Given the description of an element on the screen output the (x, y) to click on. 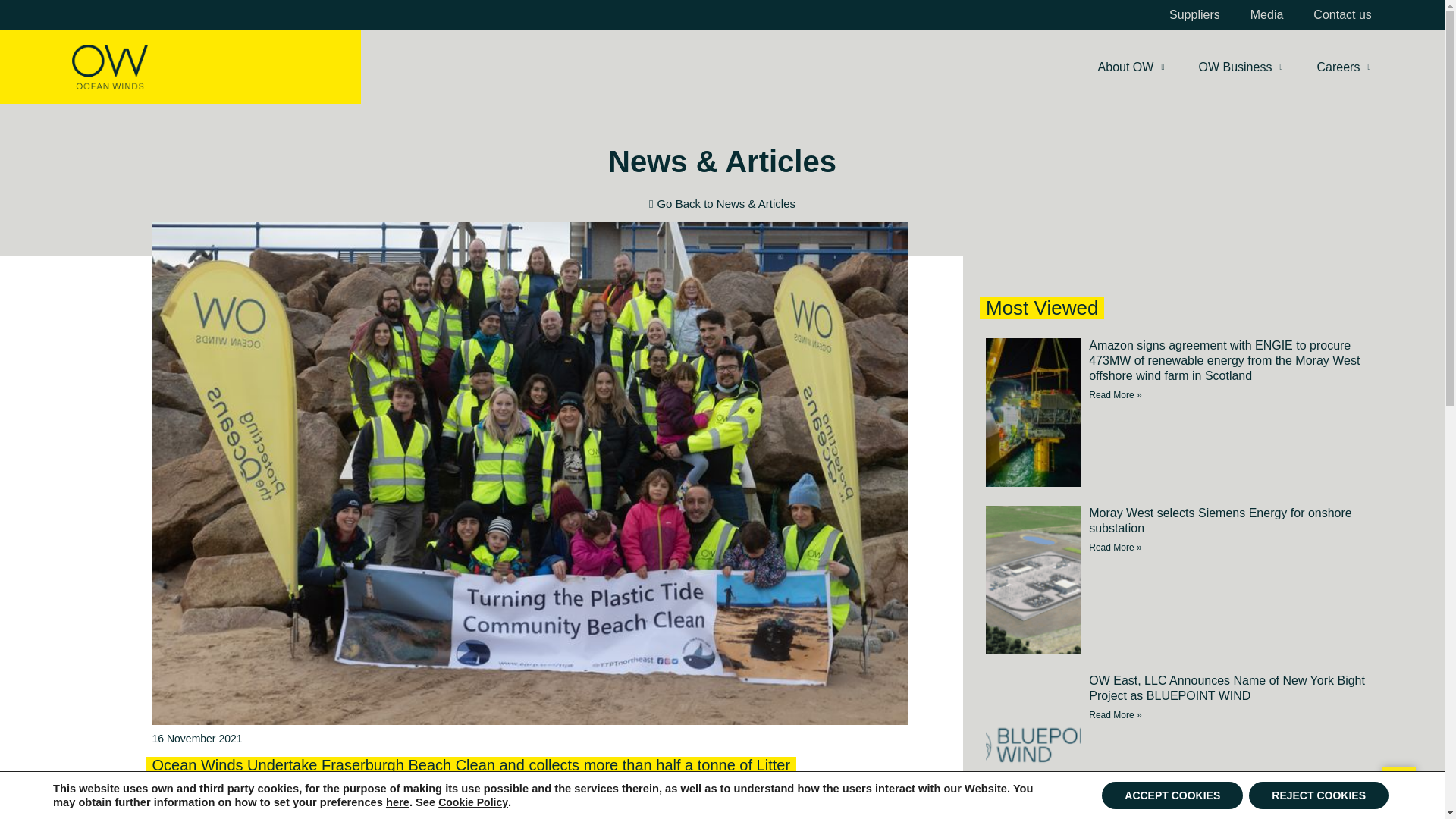
Contact us (1342, 14)
Careers (1343, 67)
About OW (1131, 67)
OW Business (1239, 67)
Media (1266, 14)
Suppliers (1194, 14)
